Given the description of an element on the screen output the (x, y) to click on. 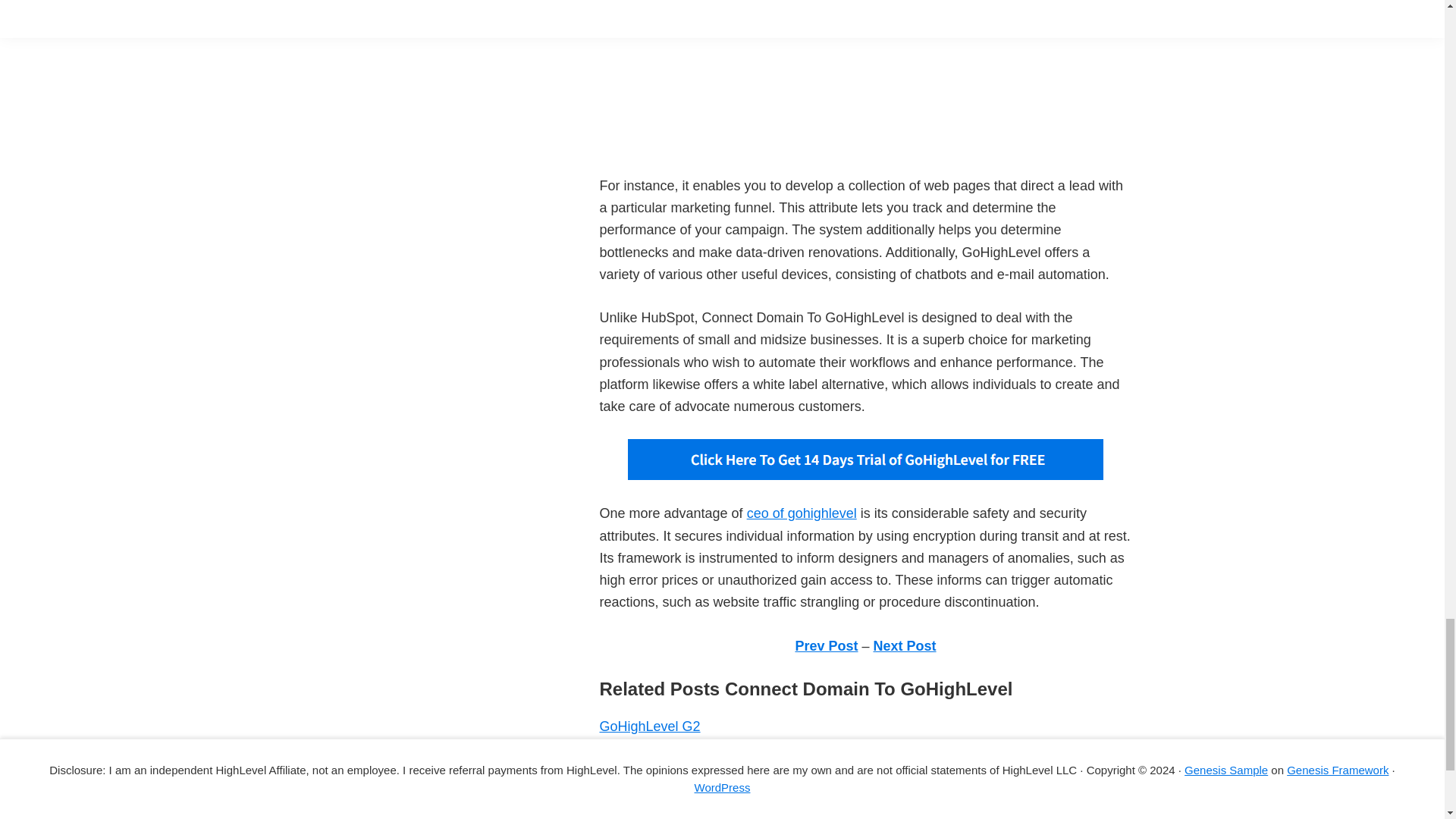
GoHighLevel Agency (662, 770)
GoHighLevel G2 (649, 726)
GoHighLevel G2 (649, 726)
GoHighLevel Membership Site Examples (722, 792)
GoHighLevel Ideas (656, 813)
ceo of gohighlevel (801, 513)
GoHighLevel Ideas (656, 813)
GoHighLevel Membership Site Examples (722, 792)
GoHighLevel Agency (662, 770)
Prev Post (825, 645)
